Given the description of an element on the screen output the (x, y) to click on. 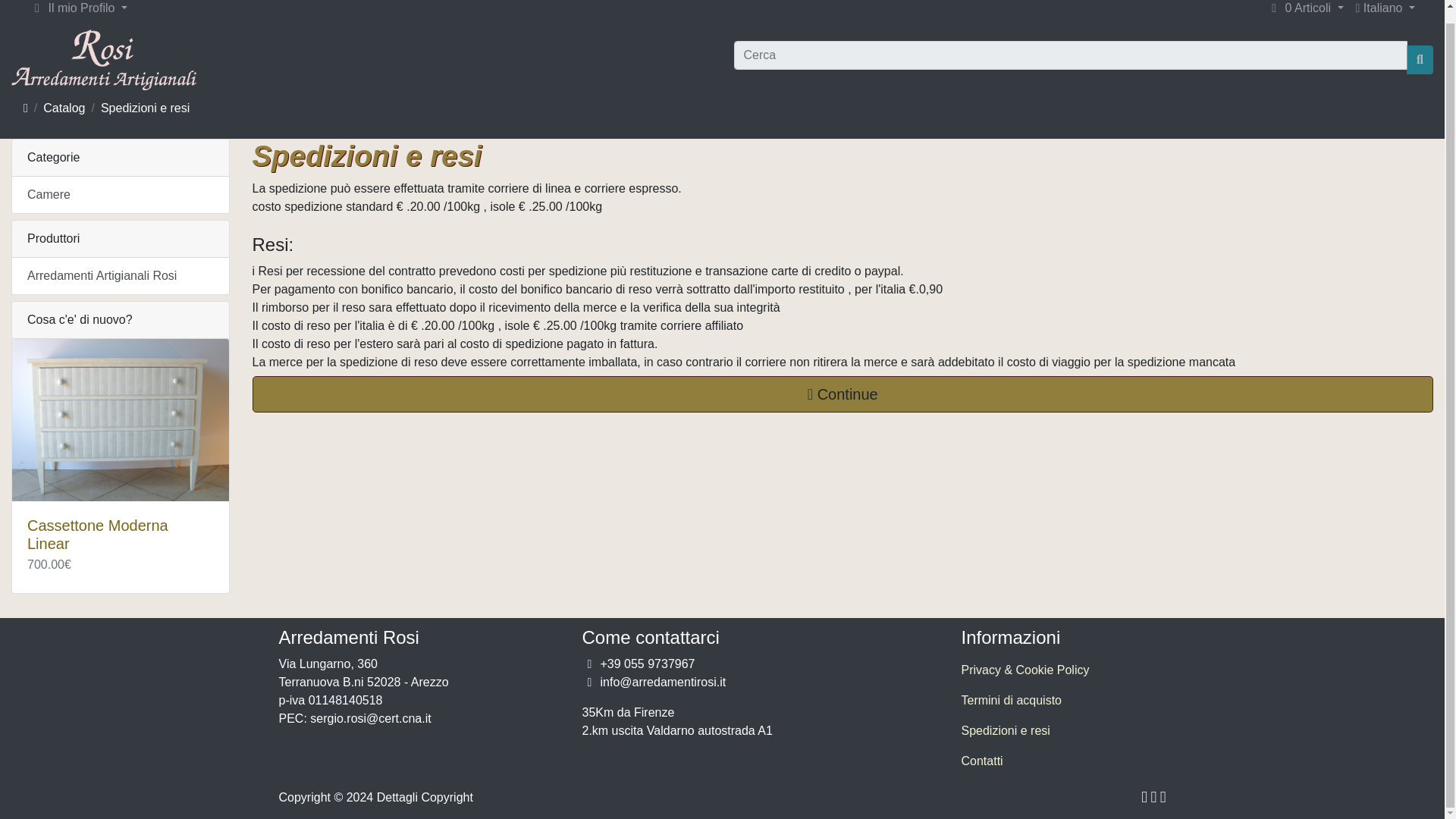
Il mio Profilo (37, 8)
Termini di acquisto (1063, 700)
Spedizioni e resi (1063, 730)
Camere (119, 194)
Contatti (1063, 761)
0 Articoli (1304, 11)
Arredamenti Rosi (103, 59)
Spedizioni e resi (144, 107)
Email (588, 682)
Carrello Spesa (1273, 8)
Il mio Profilo (78, 11)
Cassettone Moderna Linear (97, 534)
Cassettone Moderna Linear (119, 420)
Telephone (588, 664)
Arredamenti Artigianali Rosi (119, 275)
